Given the description of an element on the screen output the (x, y) to click on. 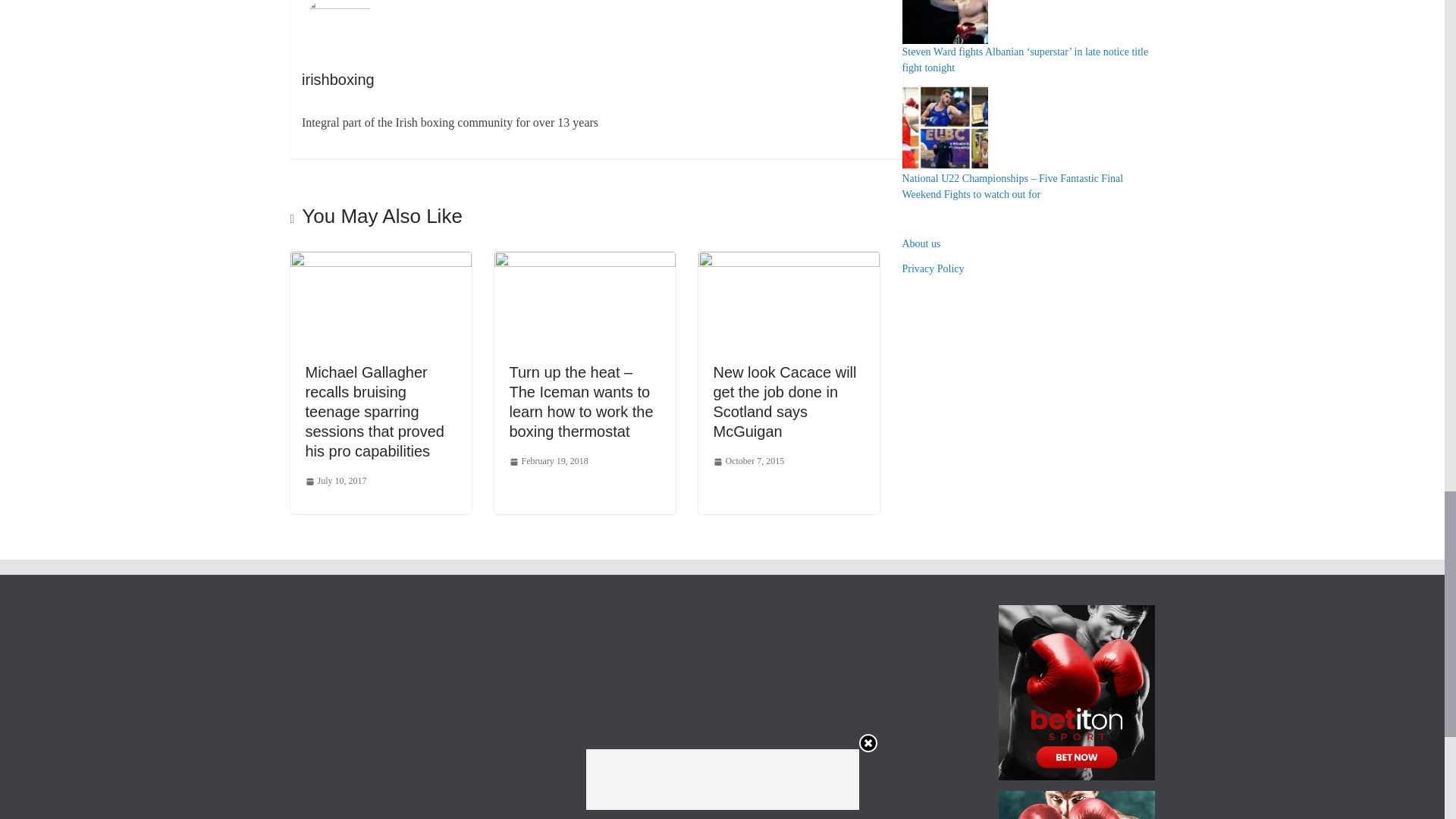
July 10, 2017 (335, 481)
February 19, 2018 (548, 461)
4:33 pm (748, 461)
October 7, 2015 (748, 461)
3:34 pm (548, 461)
1:19 pm (335, 481)
